Given the description of an element on the screen output the (x, y) to click on. 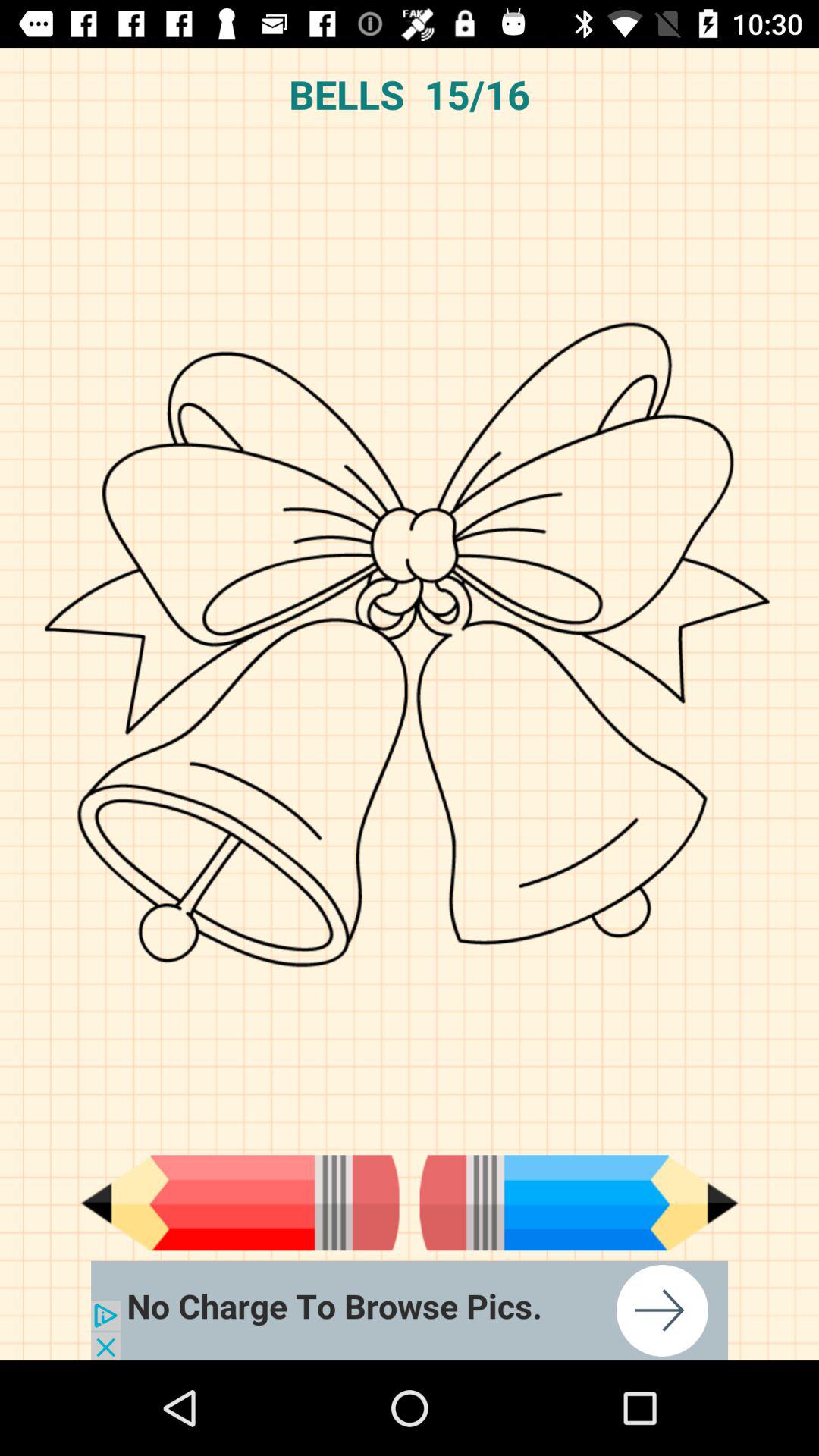
next step (578, 1202)
